Given the description of an element on the screen output the (x, y) to click on. 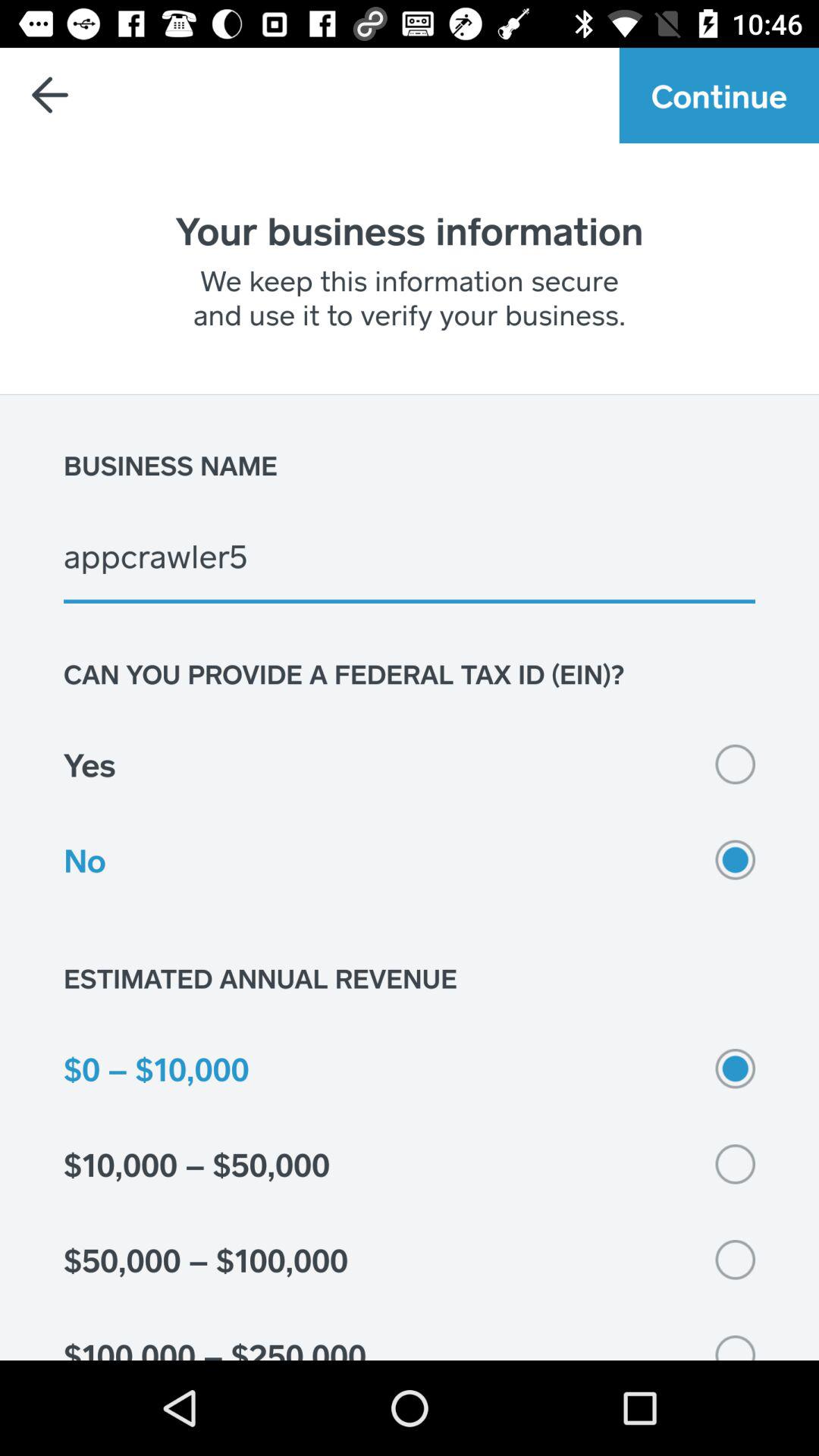
tap icon above estimated annual revenue (409, 859)
